Given the description of an element on the screen output the (x, y) to click on. 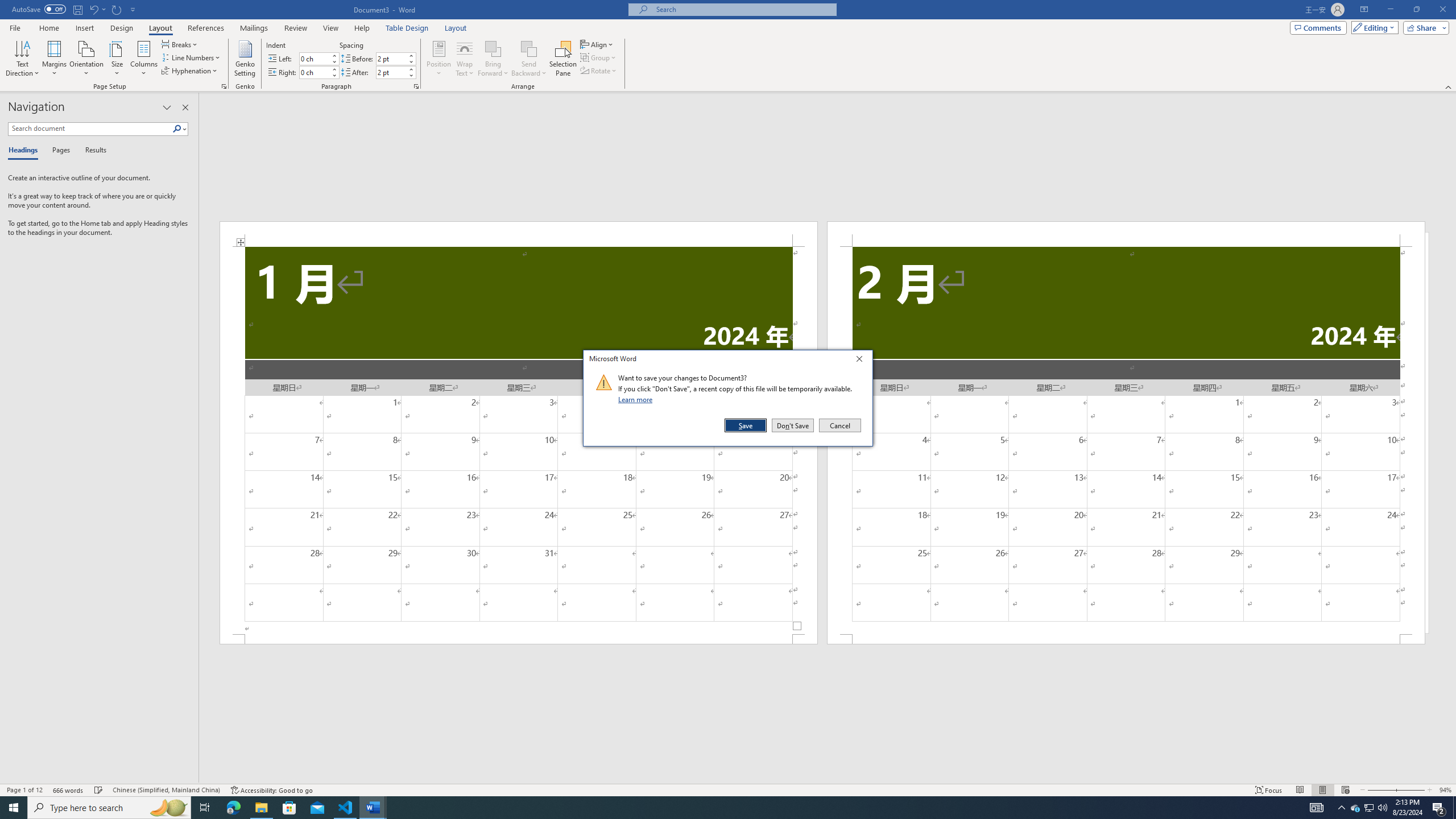
Search document (89, 128)
Notification Chevron (1341, 807)
More Options (528, 68)
Type here to search (1355, 807)
Web Layout (108, 807)
Help (1344, 790)
Insert (361, 28)
Spacing After (83, 28)
AutoSave (391, 72)
Results (38, 9)
Word - 2 running windows (91, 150)
Margins (373, 807)
Q2790: 100% (54, 58)
